Given the description of an element on the screen output the (x, y) to click on. 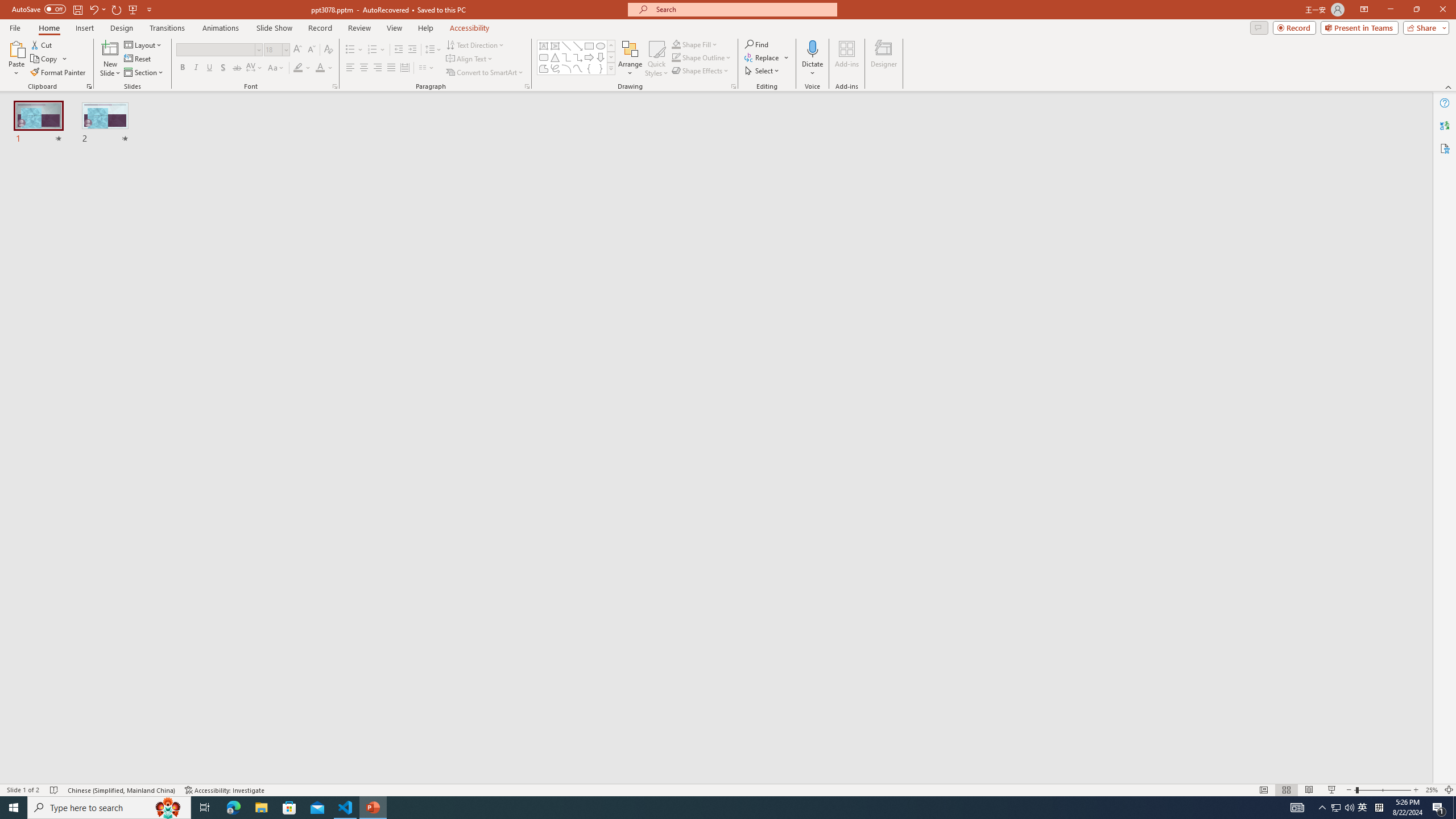
Zoom 25% (1431, 790)
